Given the description of an element on the screen output the (x, y) to click on. 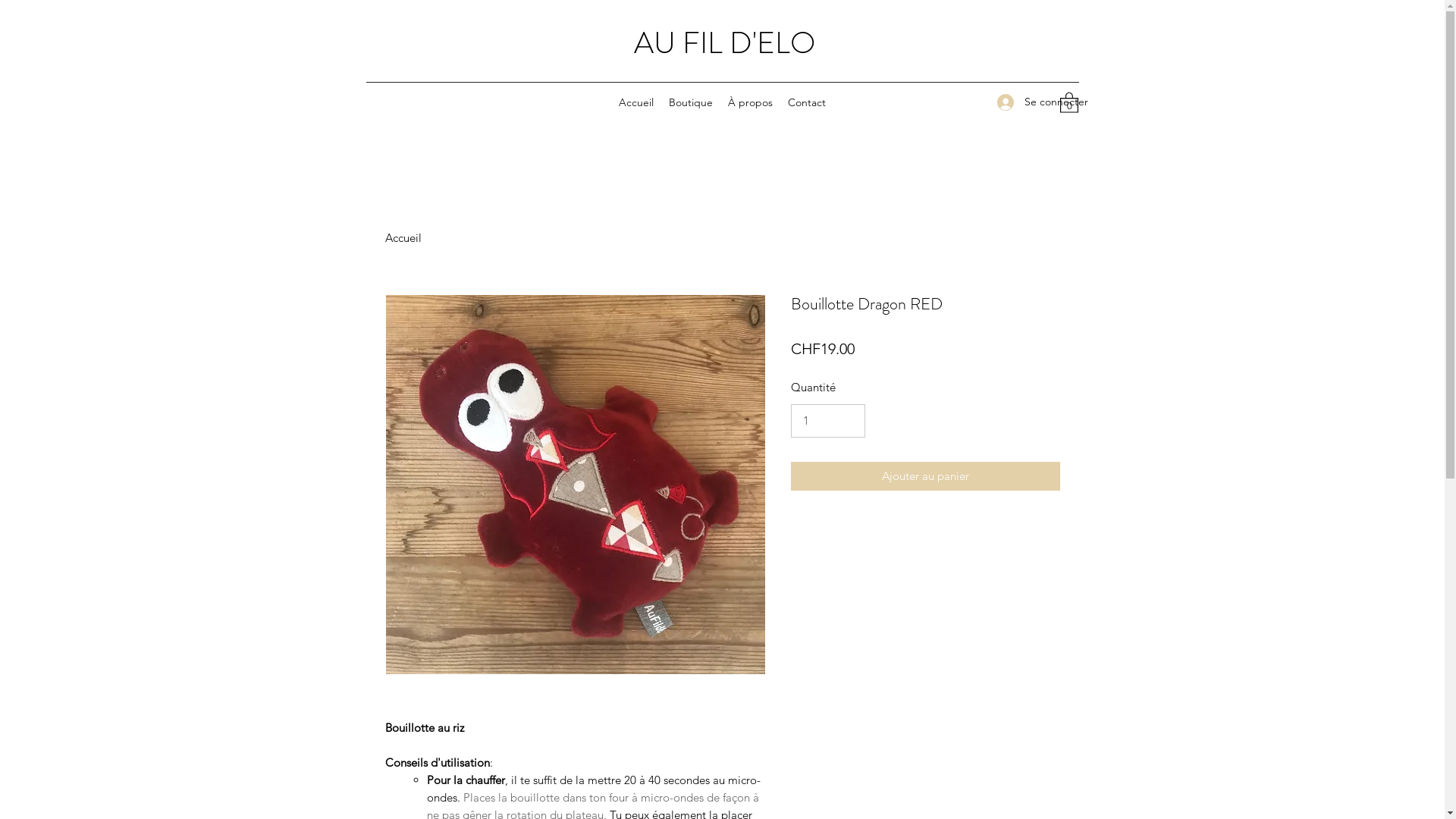
0 Element type: text (1069, 101)
Contact Element type: text (806, 102)
Ajouter au panier Element type: text (924, 476)
Accueil Element type: text (636, 102)
Boutique Element type: text (690, 102)
AU FIL D'ELO Element type: text (724, 42)
Se connecter Element type: text (1019, 101)
Accueil Element type: text (403, 237)
